Given the description of an element on the screen output the (x, y) to click on. 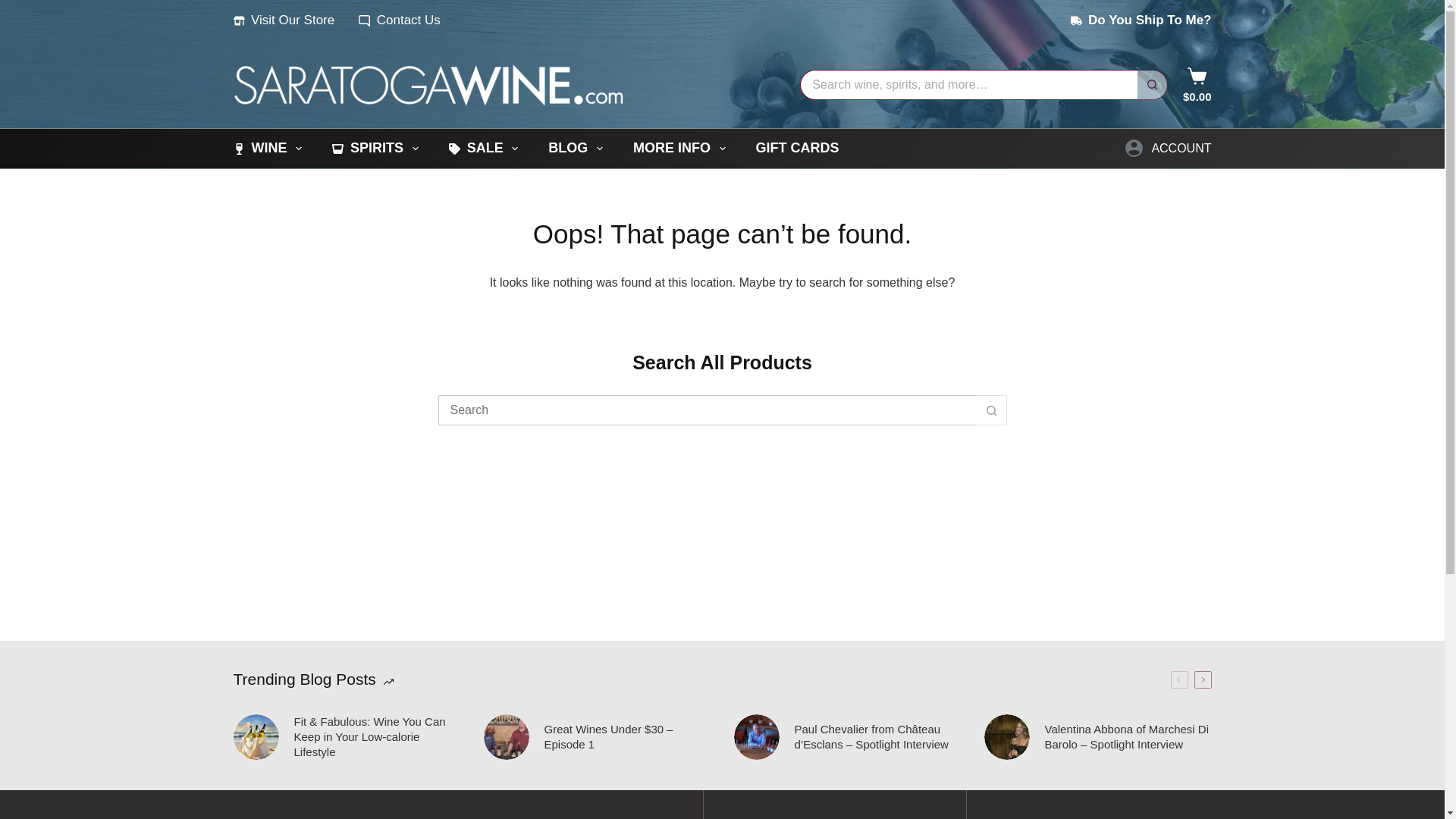
Skip to content (15, 7)
Search for... (968, 84)
Search for... (707, 409)
